Given the description of an element on the screen output the (x, y) to click on. 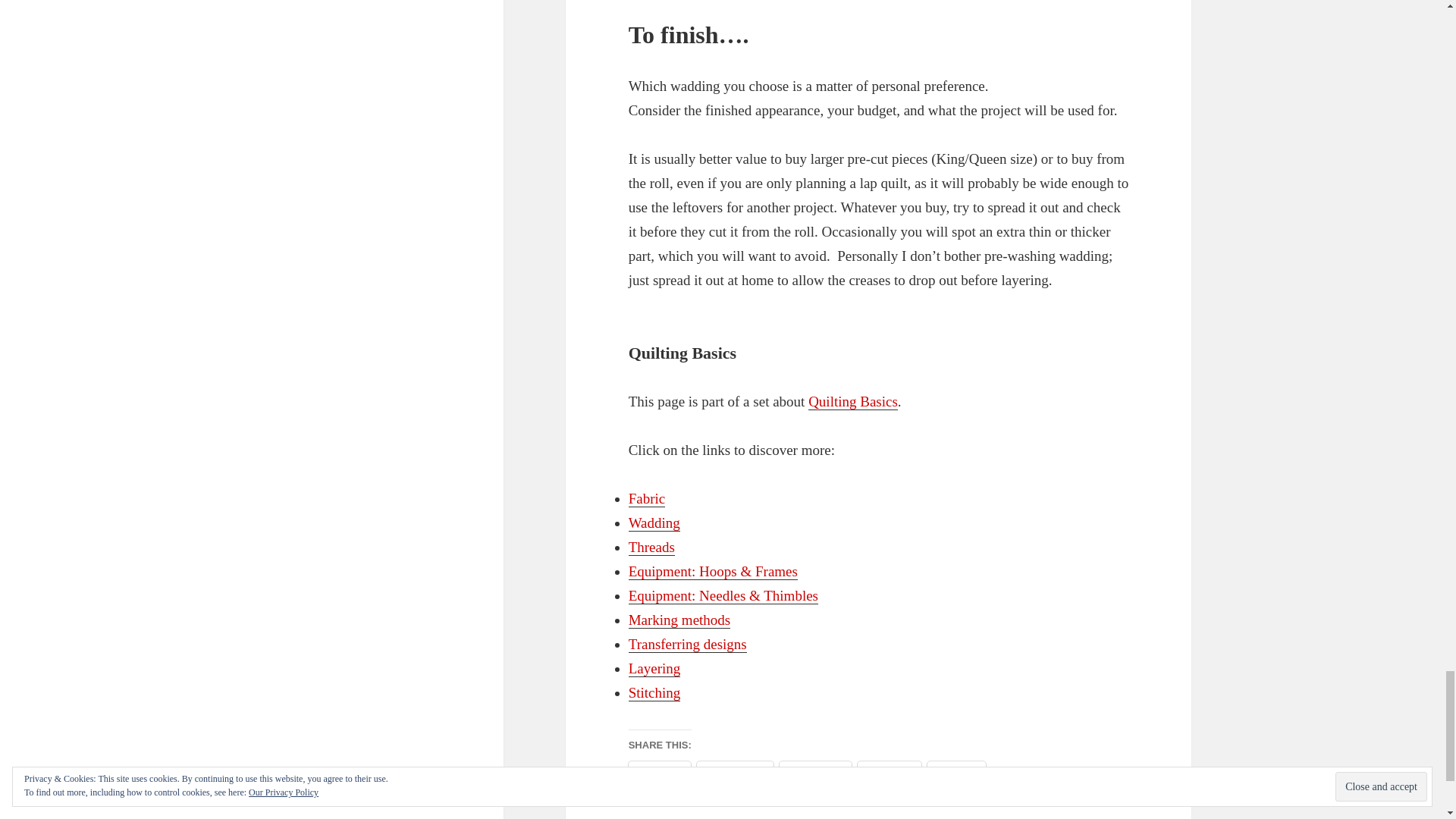
Click to share on Pocket (889, 772)
Click to share on Facebook (735, 772)
Click to email a link to a friend (956, 772)
Click to share on Twitter (659, 772)
Click to share on Pinterest (814, 772)
